Given the description of an element on the screen output the (x, y) to click on. 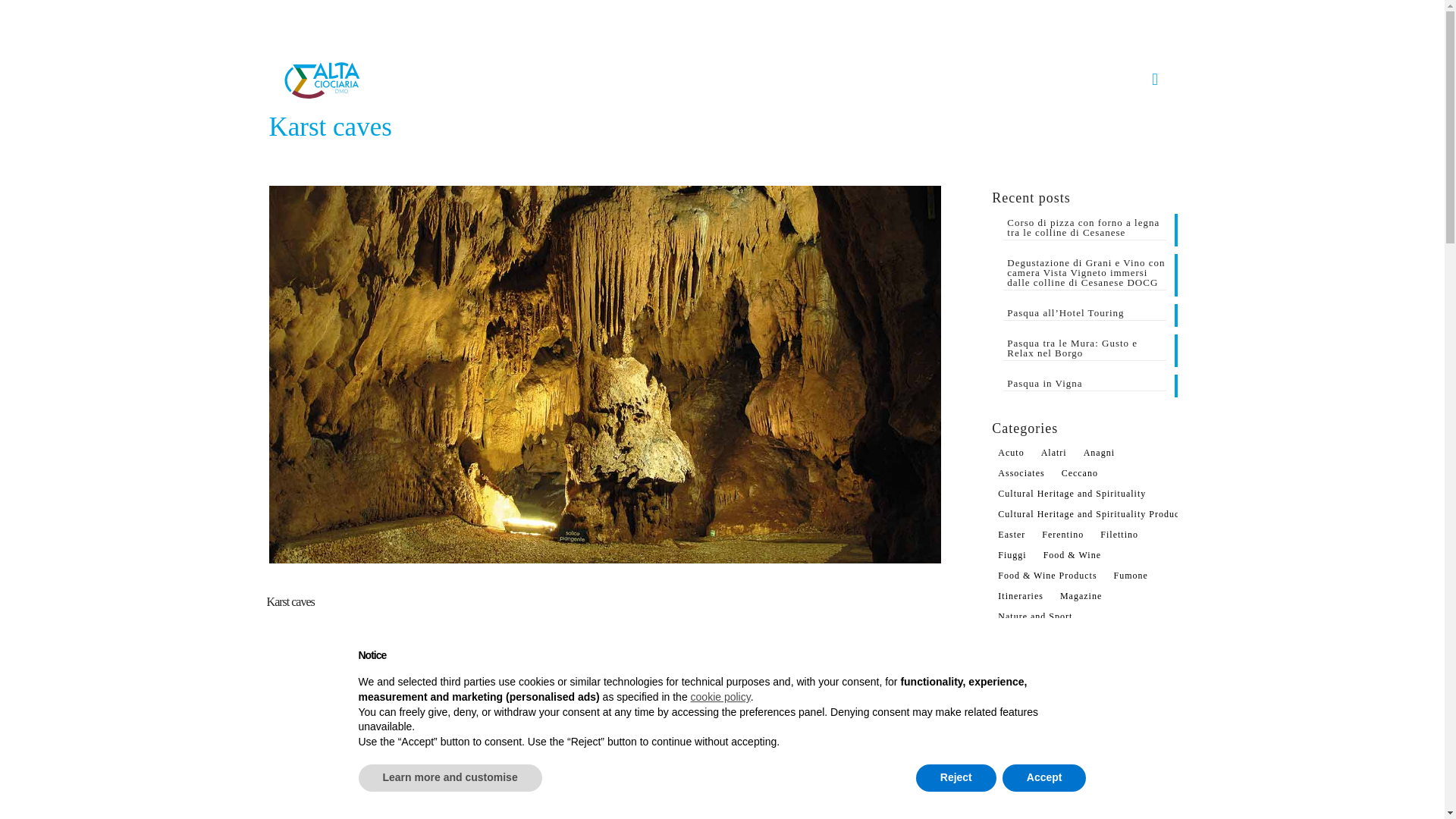
Ceccano (1079, 473)
Cultural Heritage and Spirituality (1071, 493)
Pasqua in Vigna (1084, 384)
Alatri (1054, 452)
Pasqua tra le Mura: Gusto e Relax nel Borgo (1084, 349)
Associates (1020, 473)
Corso di pizza con forno a legna tra le colline di Cesanese (1084, 228)
53 (924, 767)
Alta Ciociaria (321, 79)
Acuto (1010, 452)
Anagni (1099, 452)
